Given the description of an element on the screen output the (x, y) to click on. 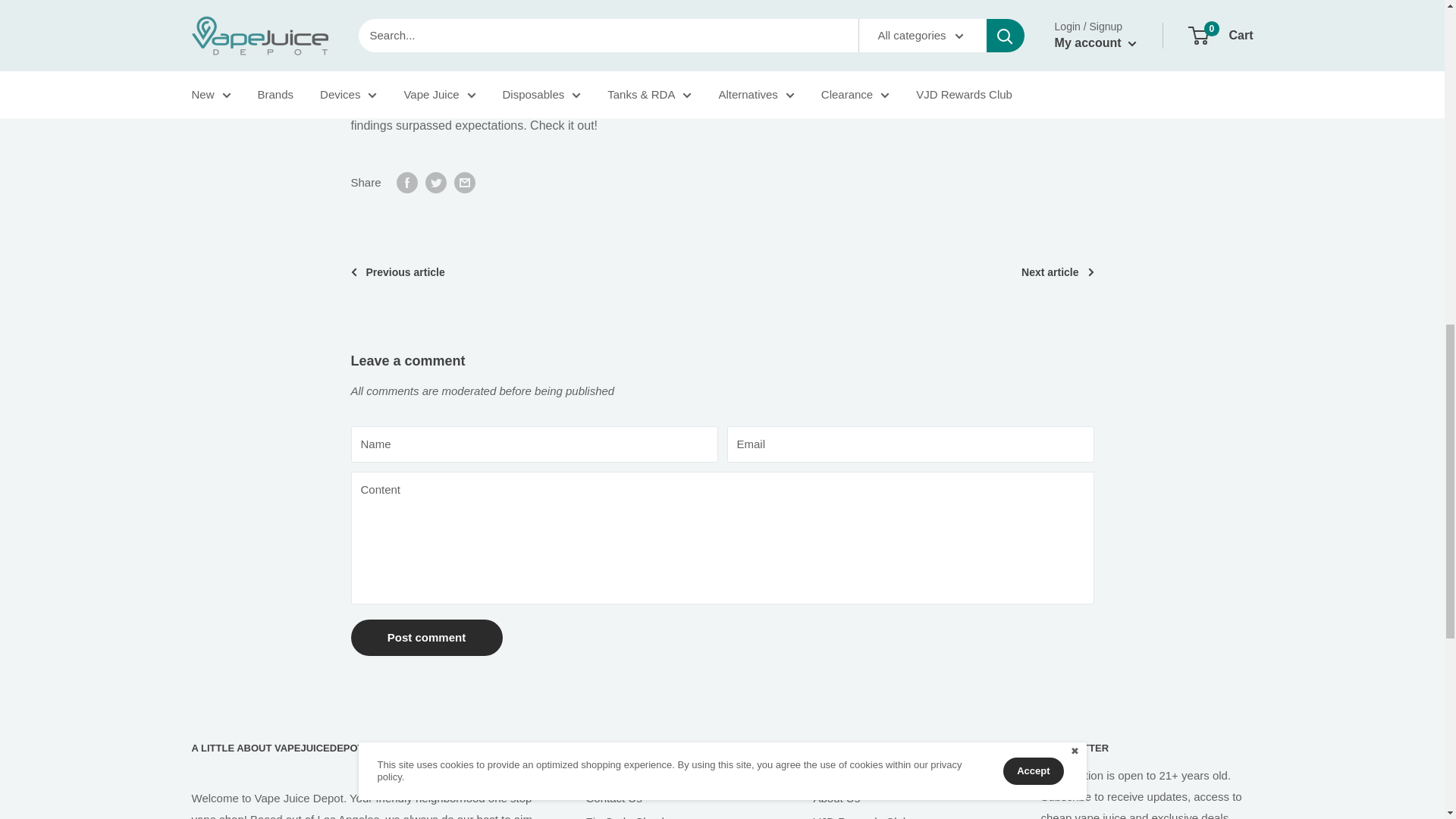
SmokTech (529, 103)
